Given the description of an element on the screen output the (x, y) to click on. 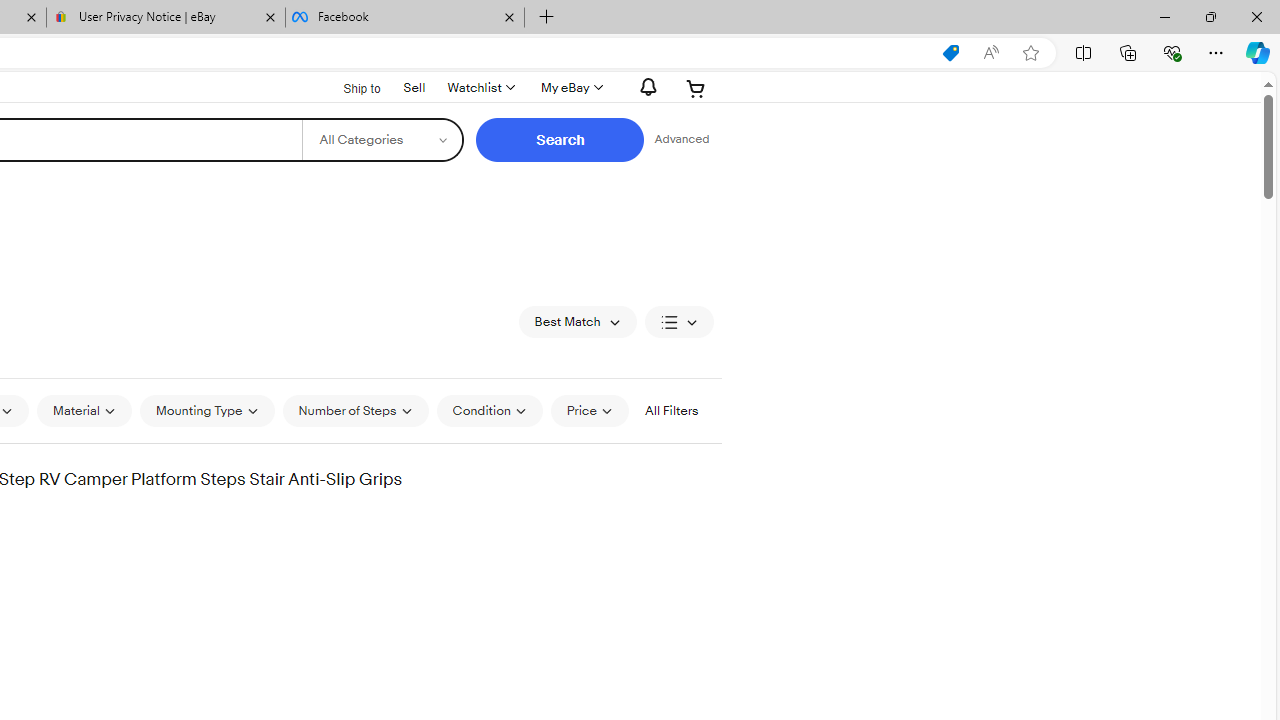
Select a category for search (382, 139)
Sell (413, 86)
Watchlist (479, 88)
This site has coupons! Shopping in Microsoft Edge (950, 53)
Your shopping cart (696, 88)
Ship to (349, 89)
Price (589, 410)
Facebook (404, 17)
Condition (489, 410)
User Privacy Notice | eBay (166, 17)
Number of Steps (354, 410)
Sell (414, 87)
